Given the description of an element on the screen output the (x, y) to click on. 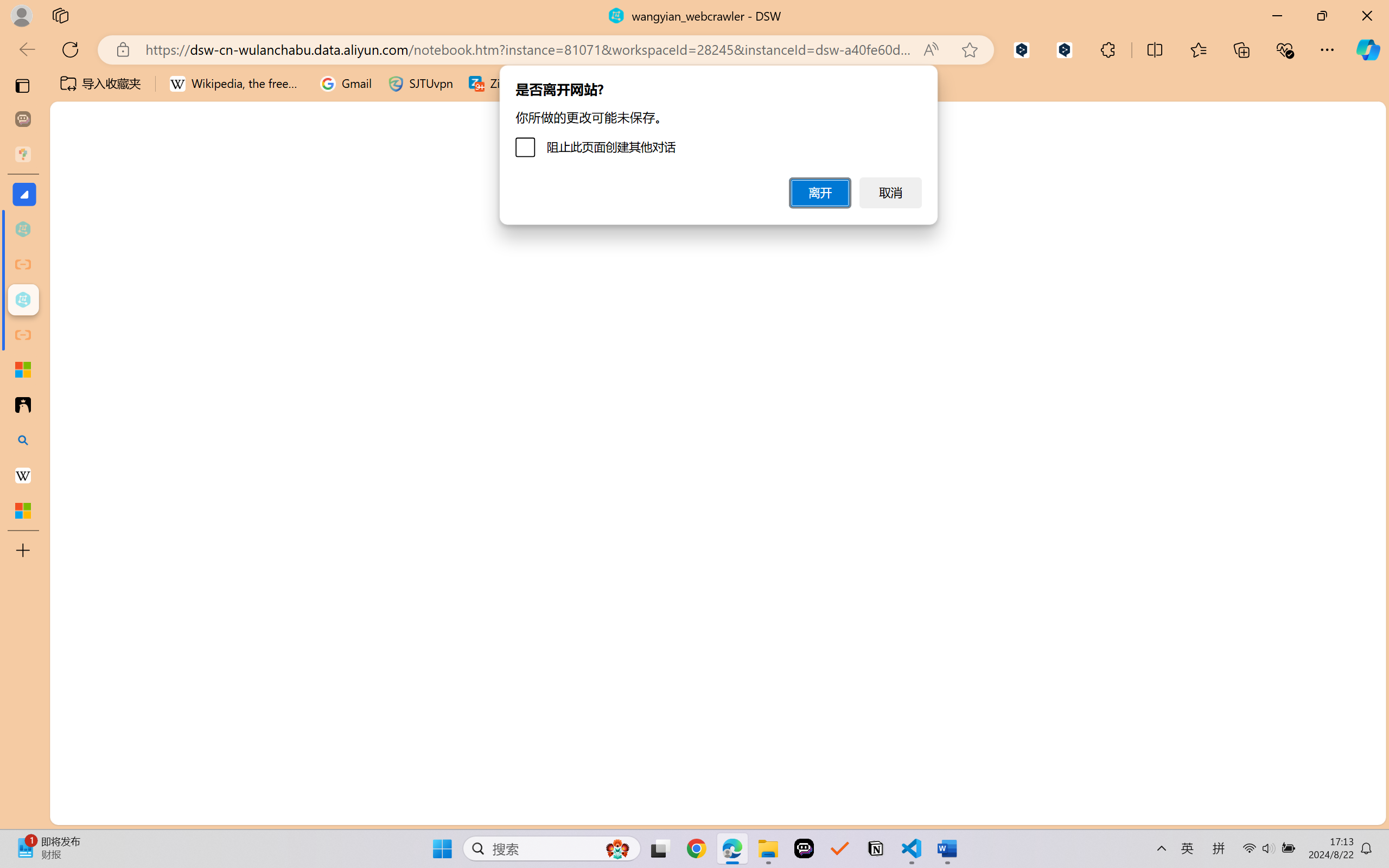
An abstract genetic concept (584, 463)
Dari (1271, 754)
Screen Reader (437, 91)
Bosnian (1271, 482)
Divehi (1271, 778)
Color & Contrast (213, 91)
Arabic (1271, 260)
